Given the description of an element on the screen output the (x, y) to click on. 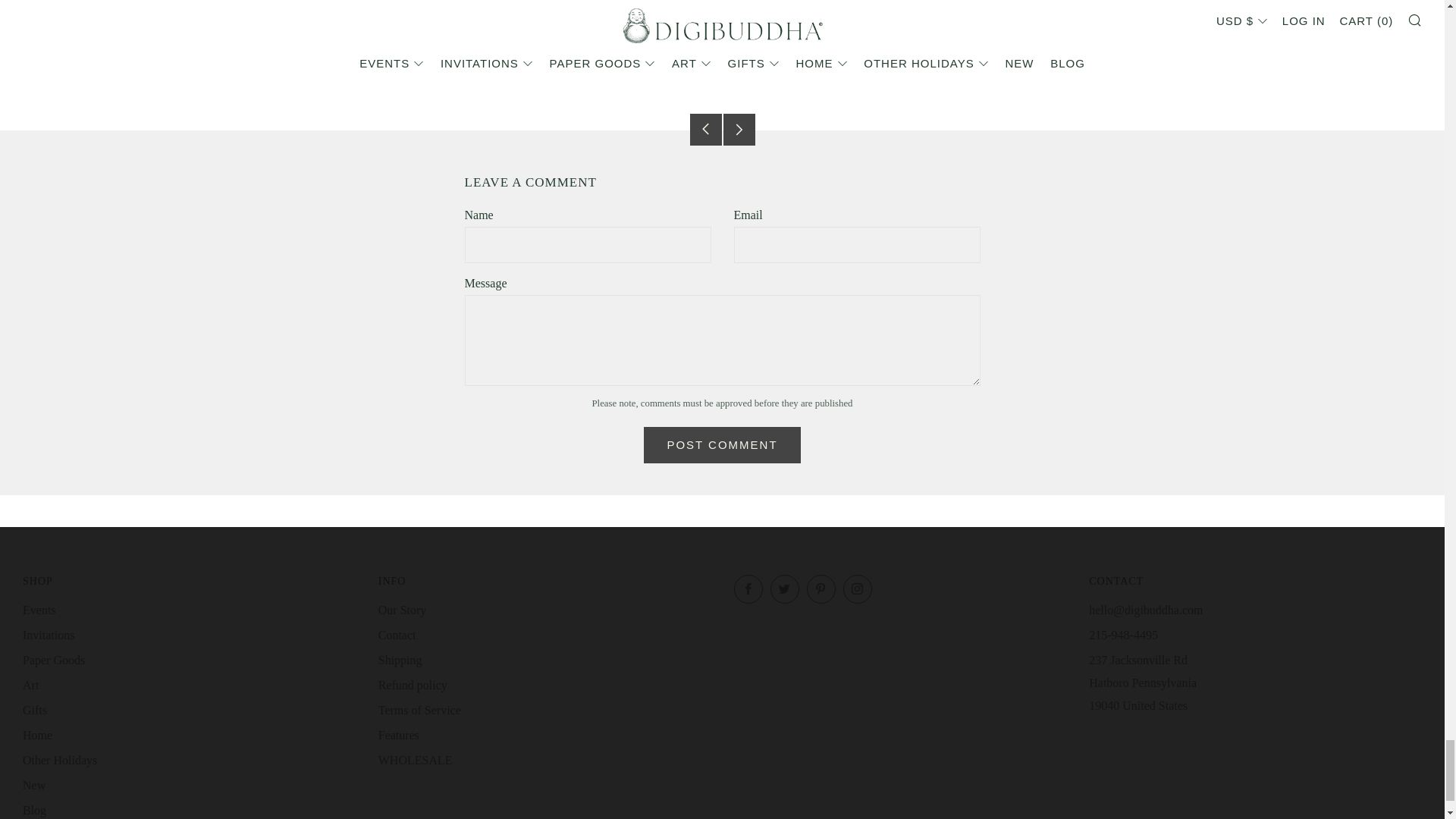
Post comment (721, 444)
